Given the description of an element on the screen output the (x, y) to click on. 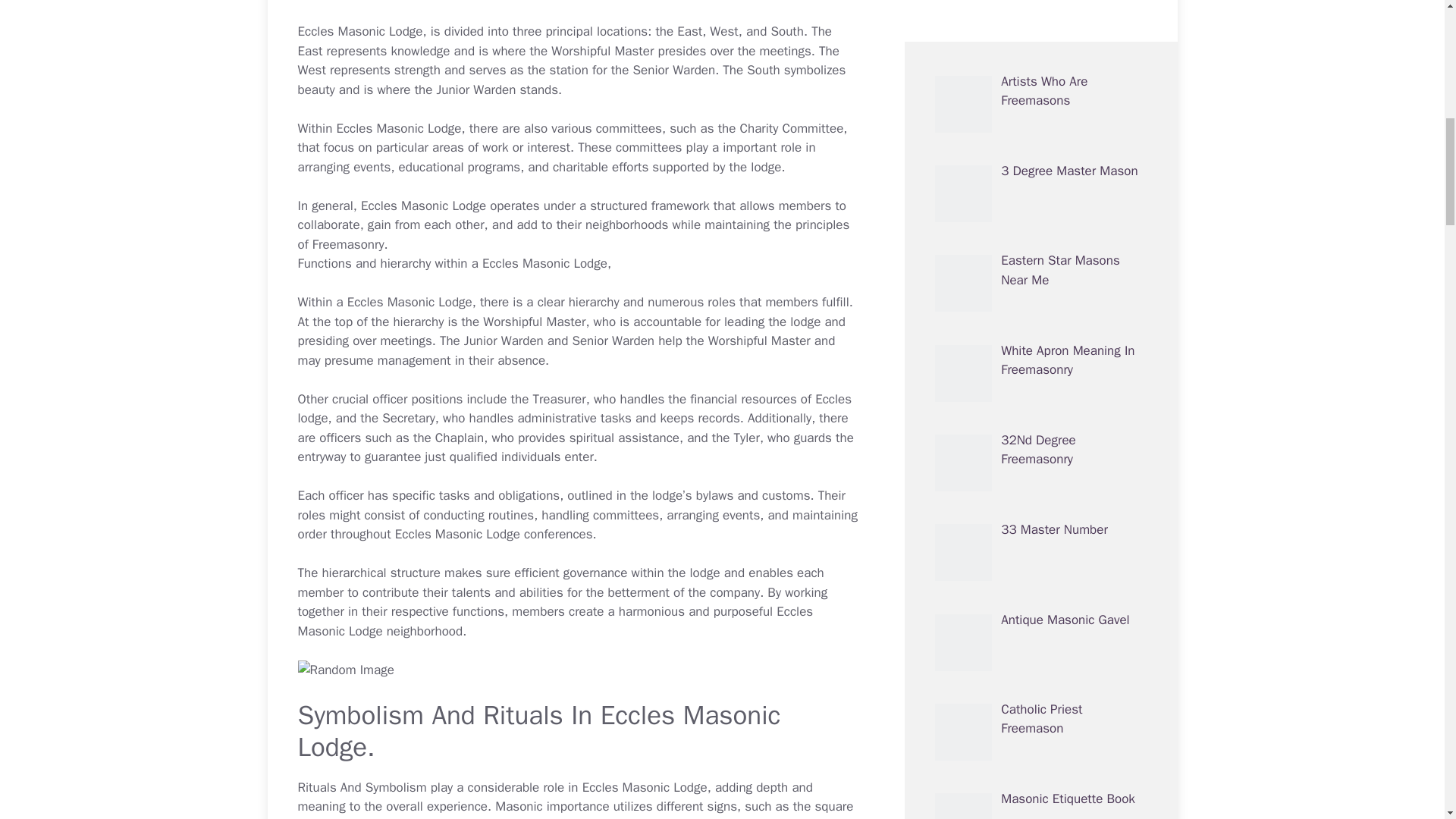
Is An Entered Apprentice Considered A Mason (1070, 640)
Freemasonry Museum (1063, 451)
What Does A 32Nd Degree Mason Mean (1059, 550)
Masonic Charitable Trust (1071, 360)
Freemasonry Rites Of Passage (1061, 191)
Catholic Priest Freemason (1041, 15)
Masonic Order Of Athelstan (1050, 810)
Scroll back to top (1406, 720)
Grand Master Mason (1060, 720)
Masonic Etiquette Book (1068, 91)
